Given the description of an element on the screen output the (x, y) to click on. 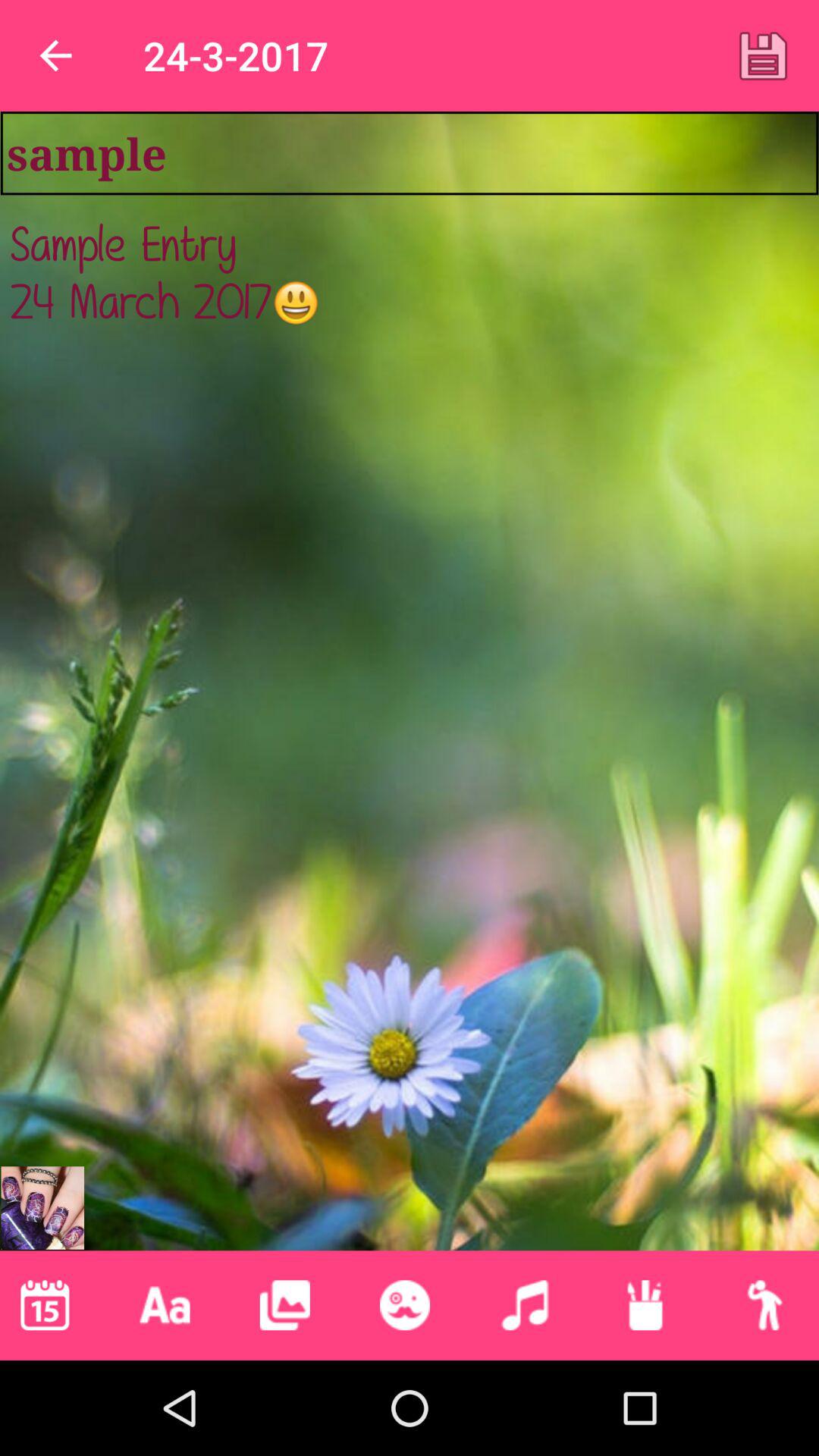
images (284, 1305)
